Given the description of an element on the screen output the (x, y) to click on. 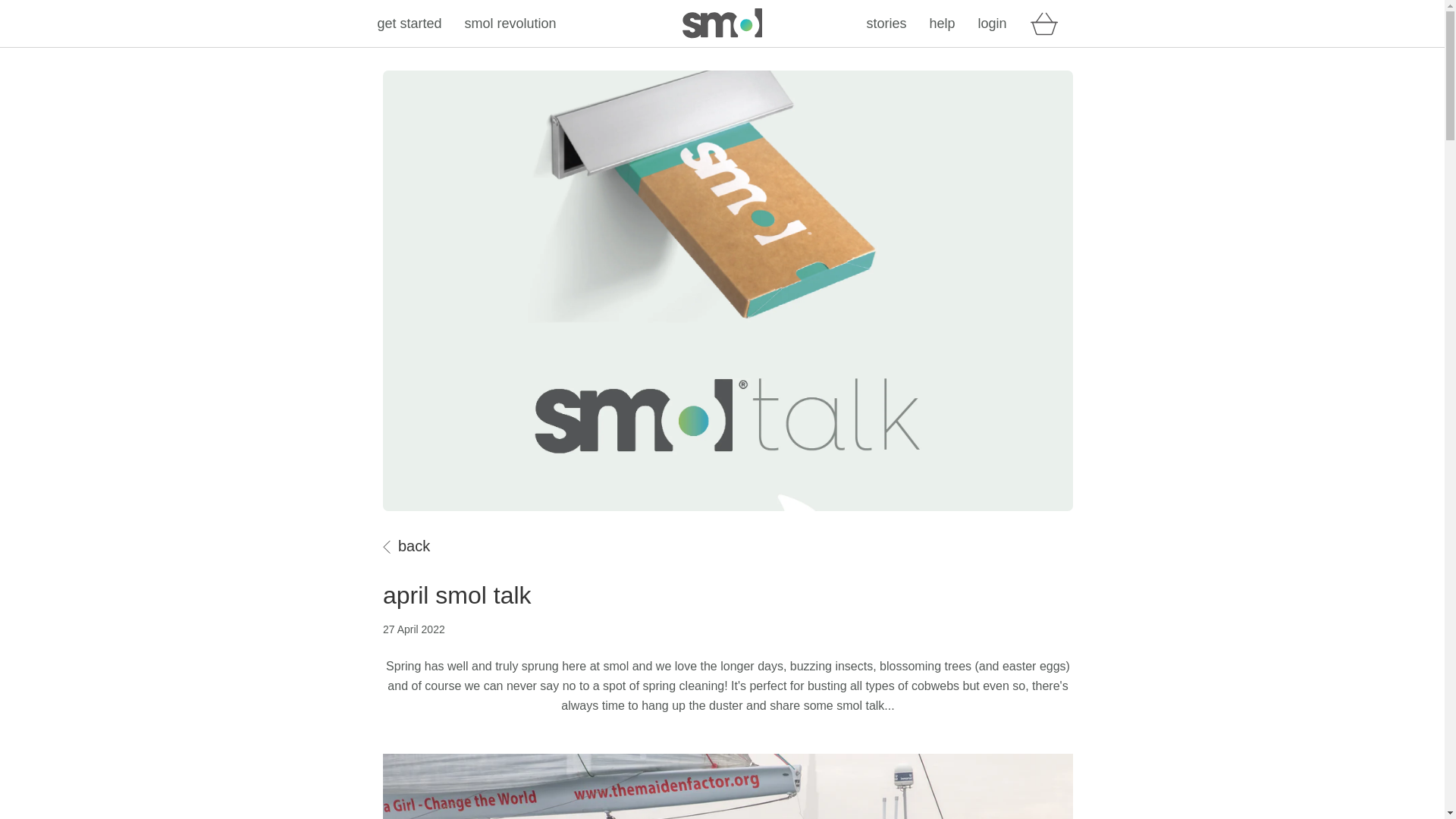
smol revolution (510, 24)
stories (885, 24)
get started (409, 24)
help (941, 24)
login (991, 24)
